Given the description of an element on the screen output the (x, y) to click on. 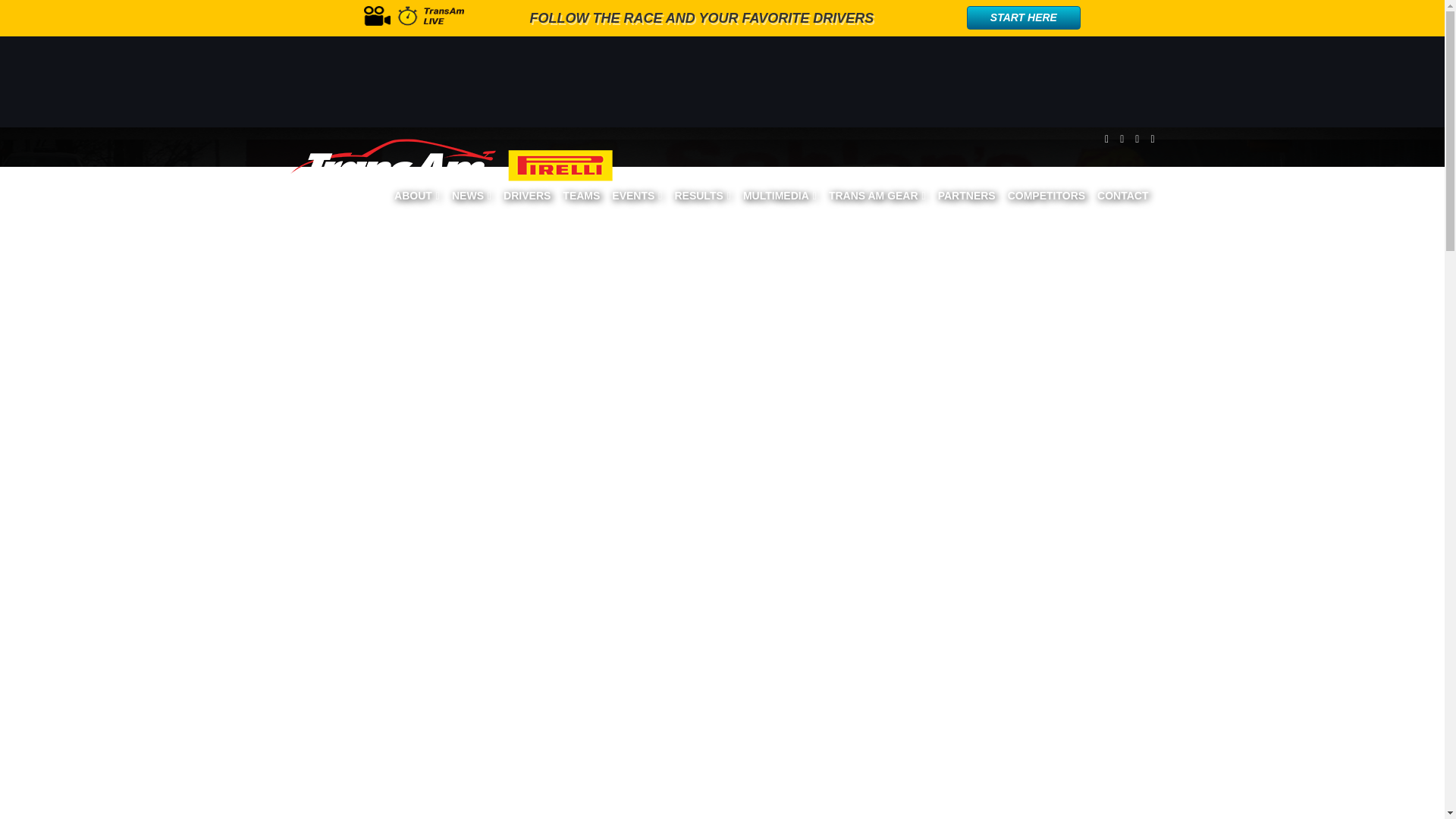
START HERE (1023, 17)
COMPETITORS (1045, 195)
DRIVERS (526, 195)
RESULTS (702, 195)
TRANS AM GEAR (876, 195)
ABOUT (416, 195)
CONTACT (1122, 195)
MULTIMEDIA (779, 195)
3rd party ad content (734, 81)
EVENTS (636, 195)
